Given the description of an element on the screen output the (x, y) to click on. 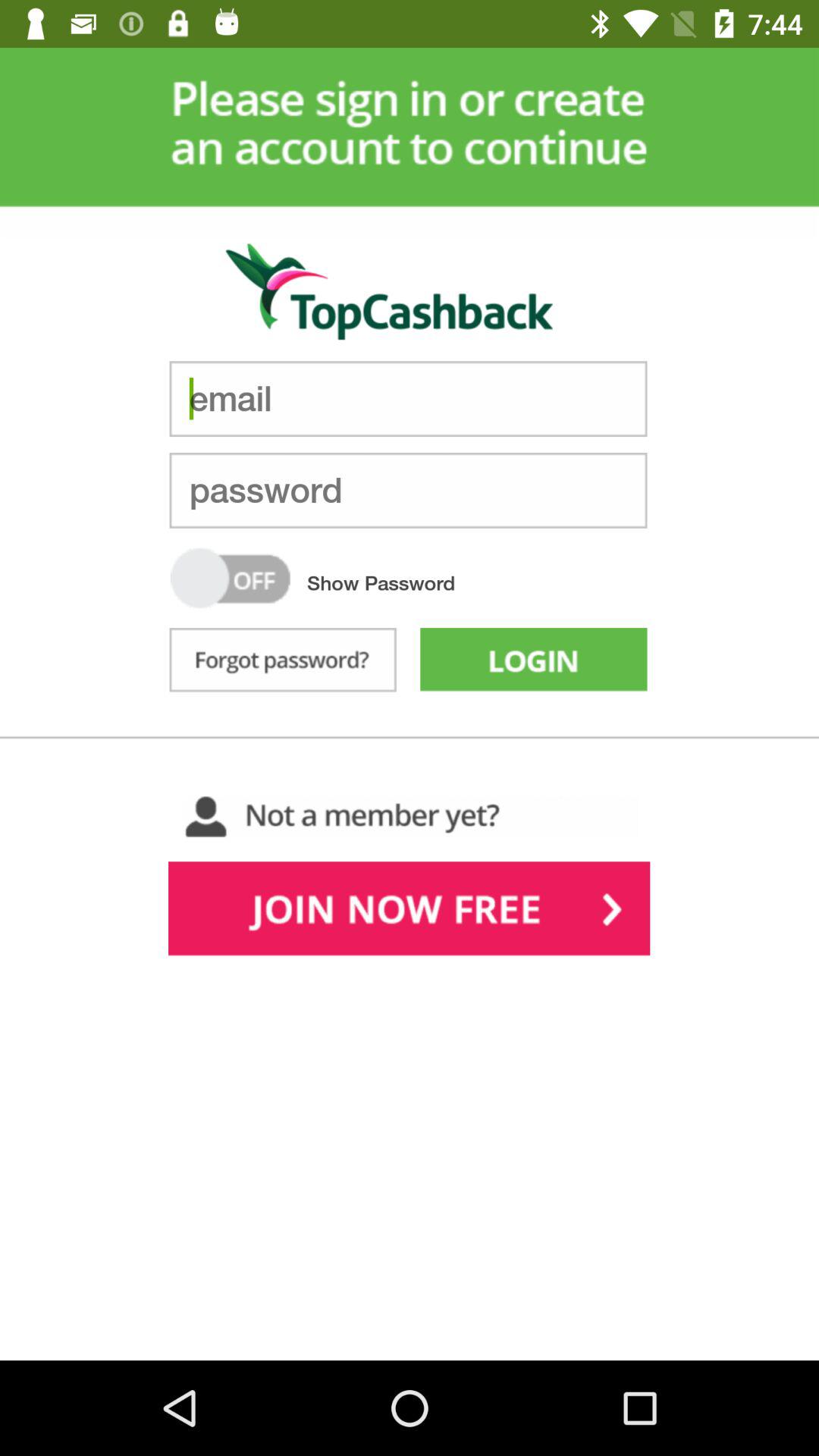
join the website (409, 912)
